Given the description of an element on the screen output the (x, y) to click on. 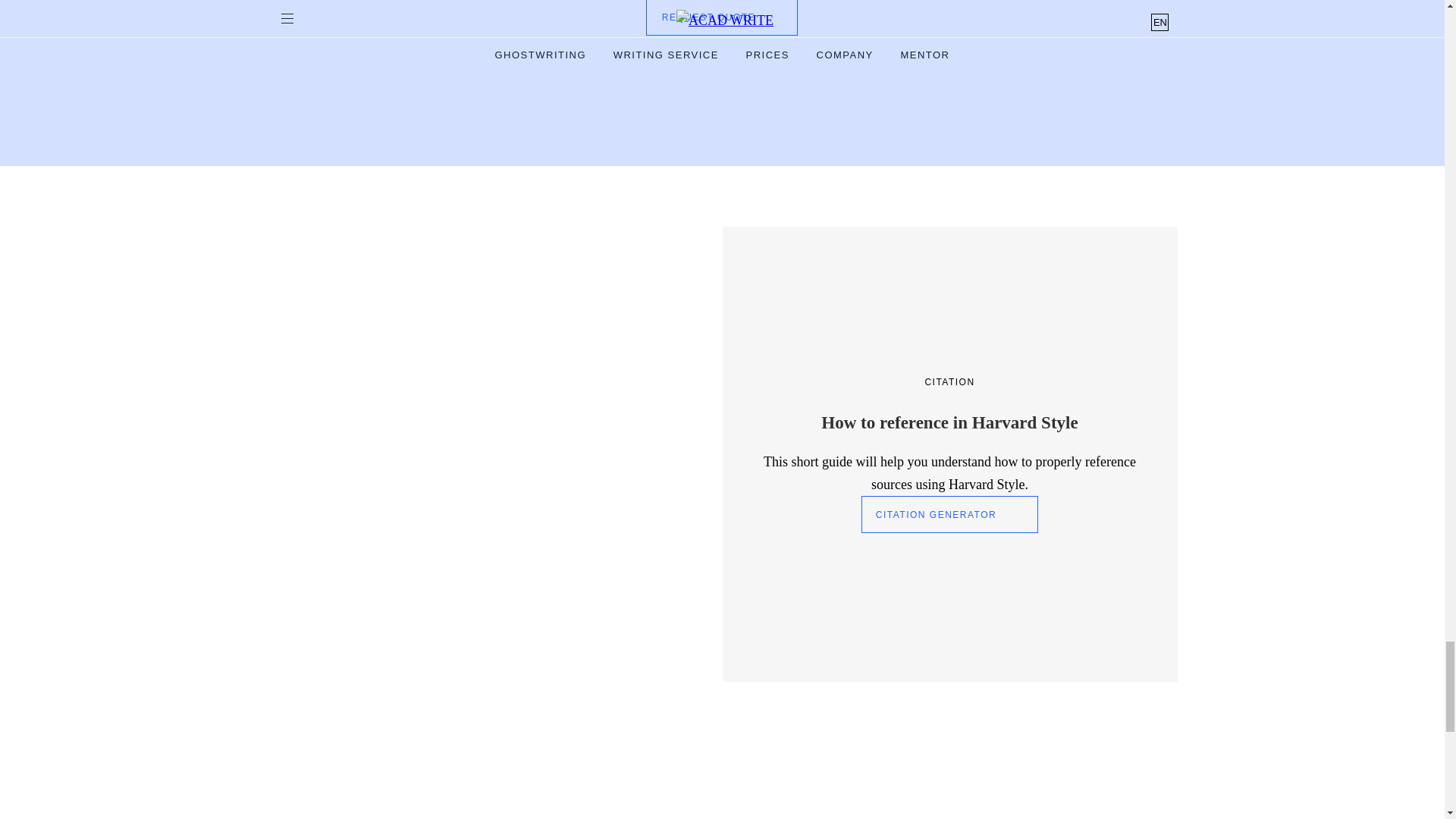
arrow-right (1115, 664)
Page Converter (403, 766)
arrow-left (1012, 664)
